Given the description of an element on the screen output the (x, y) to click on. 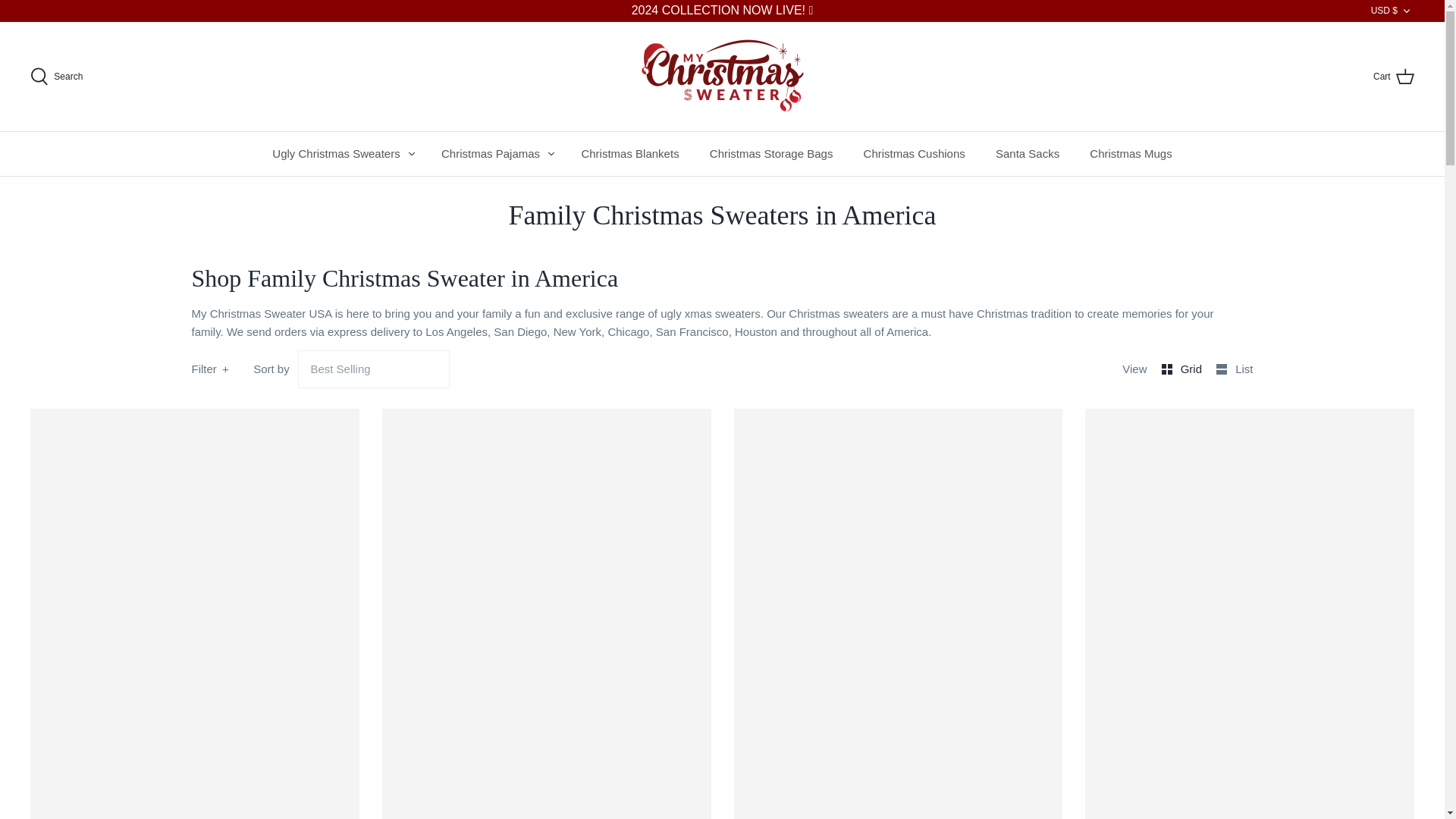
Cart (1393, 75)
Christmas Pajamas (490, 153)
Christmas Blankets (630, 153)
Ugly Christmas Sweaters (336, 153)
Toggle menu (411, 153)
Toggle menu (551, 153)
Down (1406, 10)
Search (56, 75)
My Christmas Sweater (722, 76)
